Given the description of an element on the screen output the (x, y) to click on. 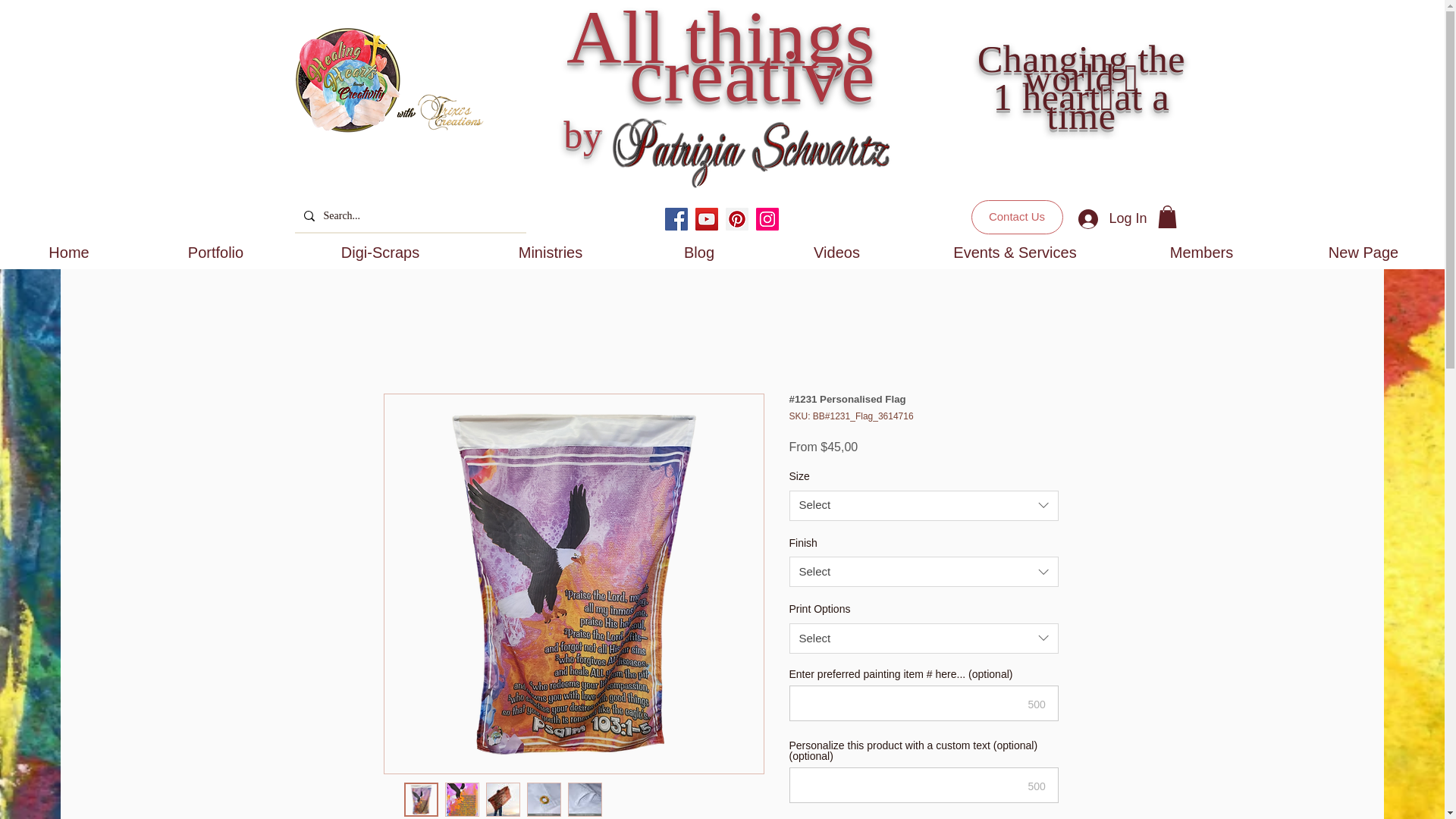
Ministries (550, 252)
Log In (1112, 218)
Contact Us (1016, 216)
Home (69, 252)
Digi-Scraps (380, 252)
